Given the description of an element on the screen output the (x, y) to click on. 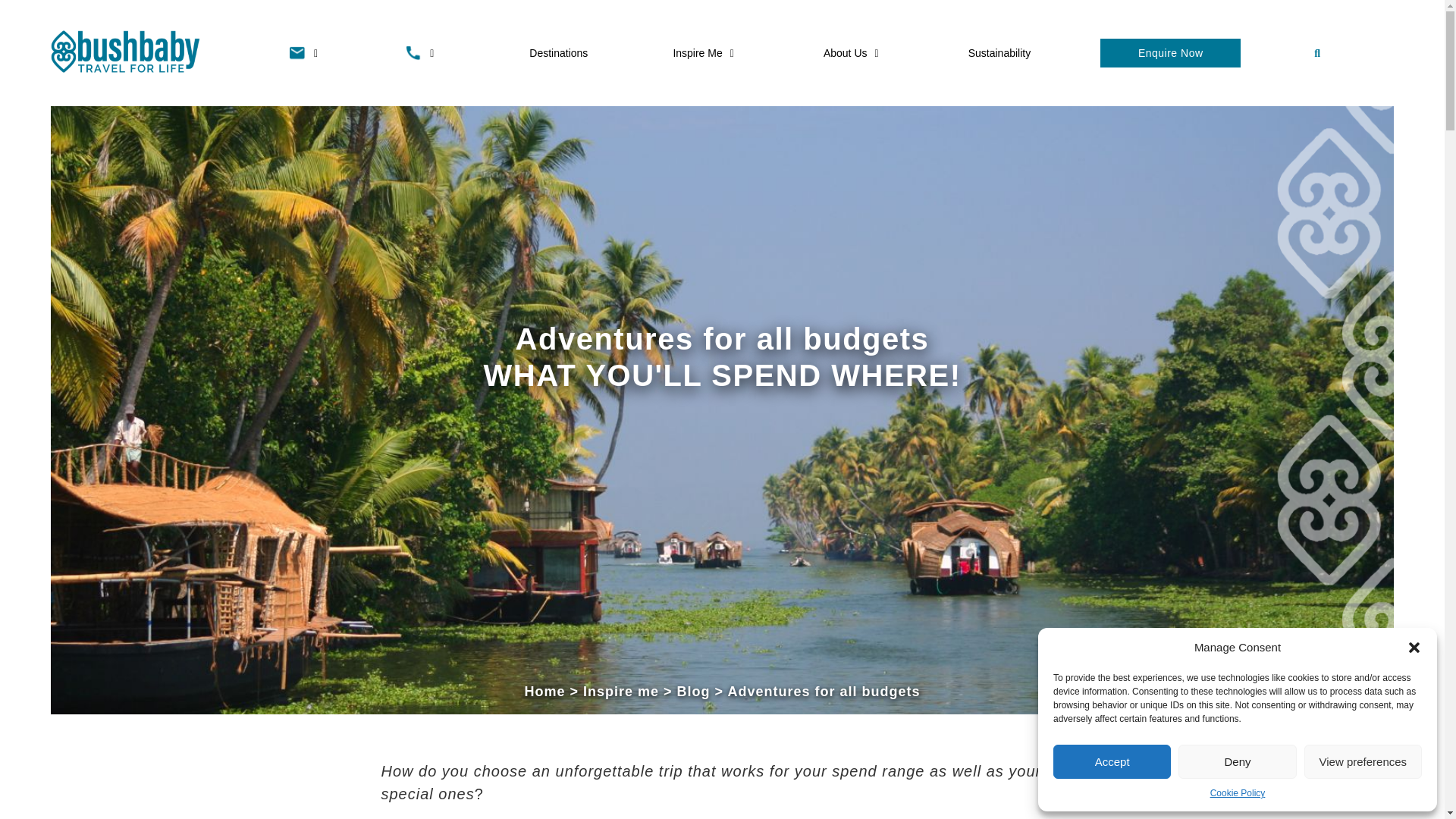
Accept (1111, 761)
View preferences (1363, 761)
BushBaby Travel (125, 50)
Sustainability (999, 53)
About Us (853, 53)
Deny (1236, 761)
Destinations (557, 53)
Enquire Now (1170, 52)
Inspire Me (706, 53)
Cookie Policy (1237, 793)
BushBaby Travel (125, 51)
